Given the description of an element on the screen output the (x, y) to click on. 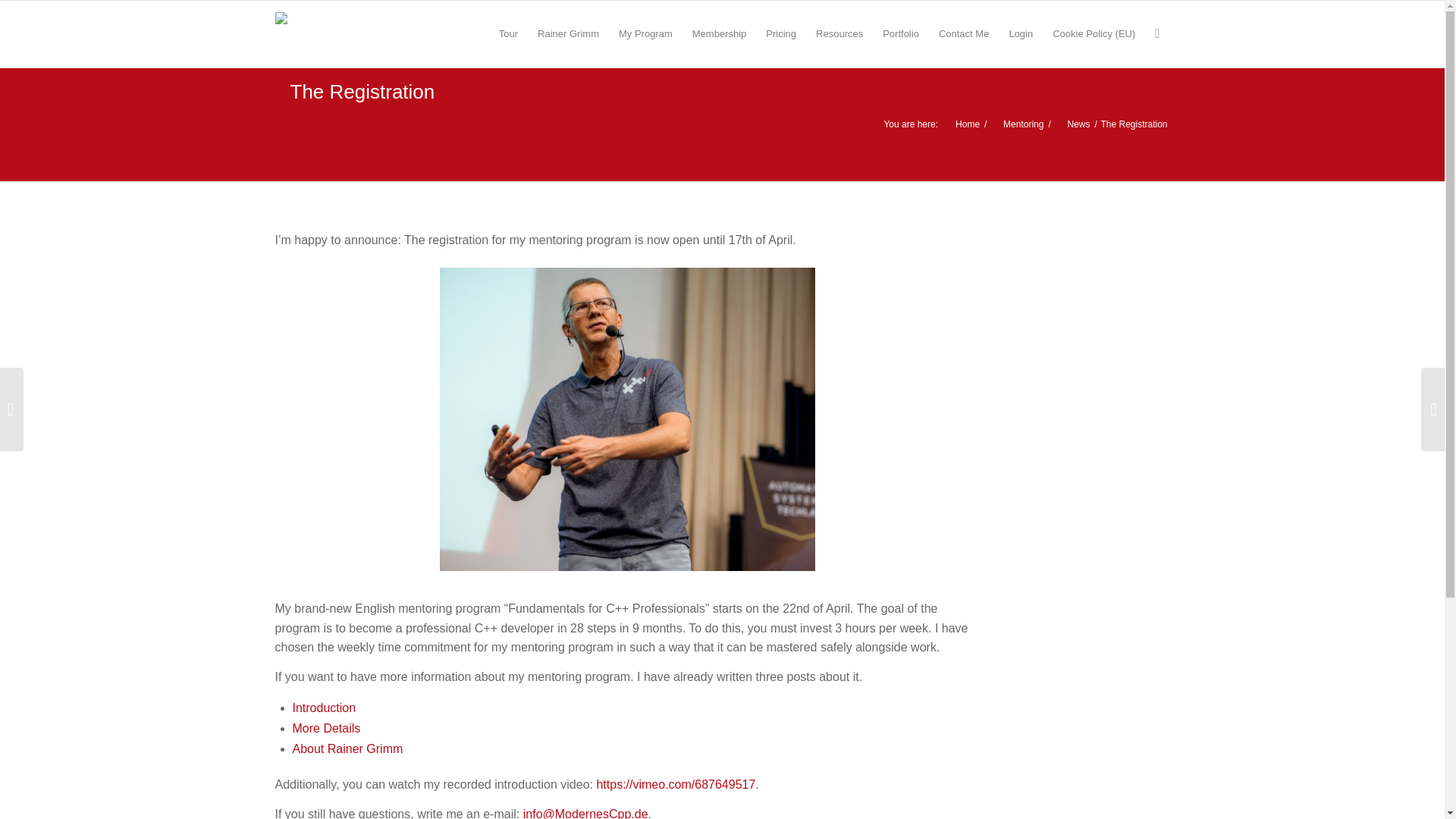
Permanent Link: The Registration (354, 91)
Tour (508, 33)
Contact Me (963, 33)
Rainer Grimm (567, 33)
Resources (839, 33)
Portfolio (900, 33)
Membership (719, 33)
Pricing (780, 33)
My Program (645, 33)
